Given the description of an element on the screen output the (x, y) to click on. 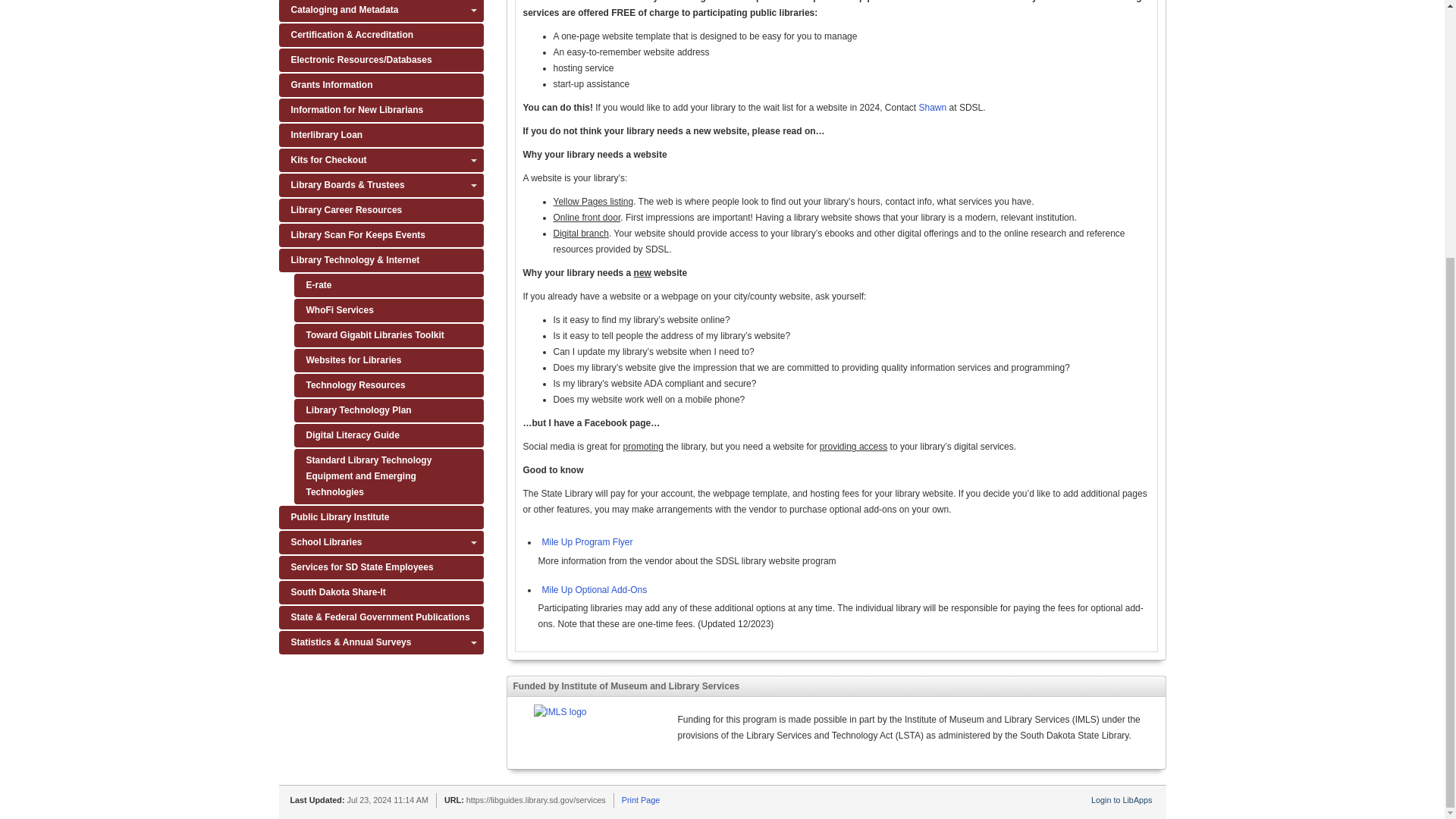
Library Scan For Keeps Events (381, 235)
E-rate (388, 285)
Library Career Resources (381, 210)
Toggle Dropdown (473, 11)
Toggle Dropdown (473, 185)
WhoFi Services (388, 310)
Information for New Librarians (381, 110)
Cataloging and Metadata (381, 11)
Learn about ILL services coordinated by the SD State Library (381, 135)
Interlibrary Loan (381, 135)
Toward Gigabit Libraries Toolkit (388, 335)
Kits for Checkout (381, 159)
Grants Information (381, 85)
Helpful Information for new SD Librarians (381, 110)
